Given the description of an element on the screen output the (x, y) to click on. 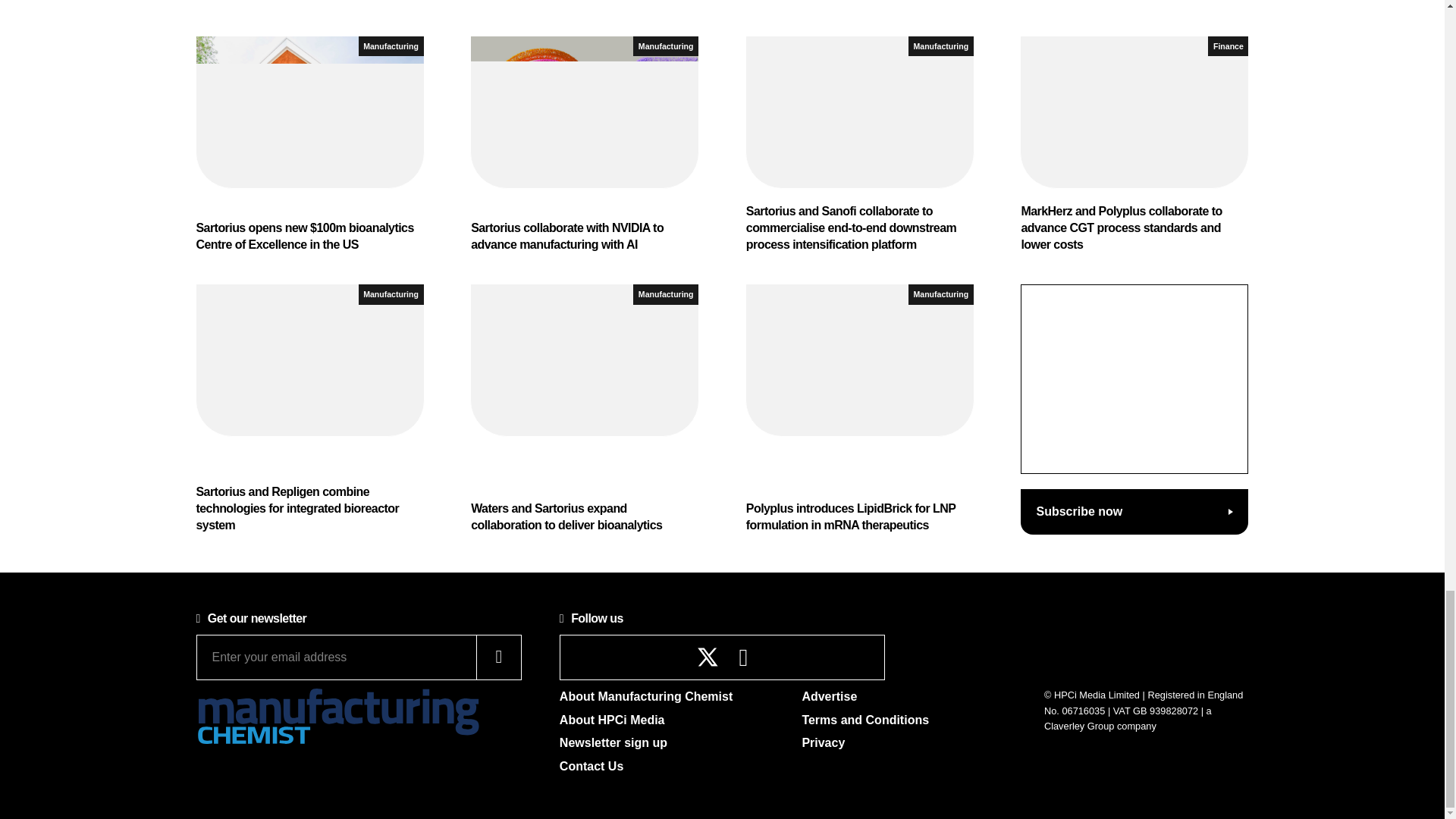
Manufacturing (390, 46)
Manufacturing (665, 46)
Follow Manufacturing Chemist on X (708, 657)
